Given the description of an element on the screen output the (x, y) to click on. 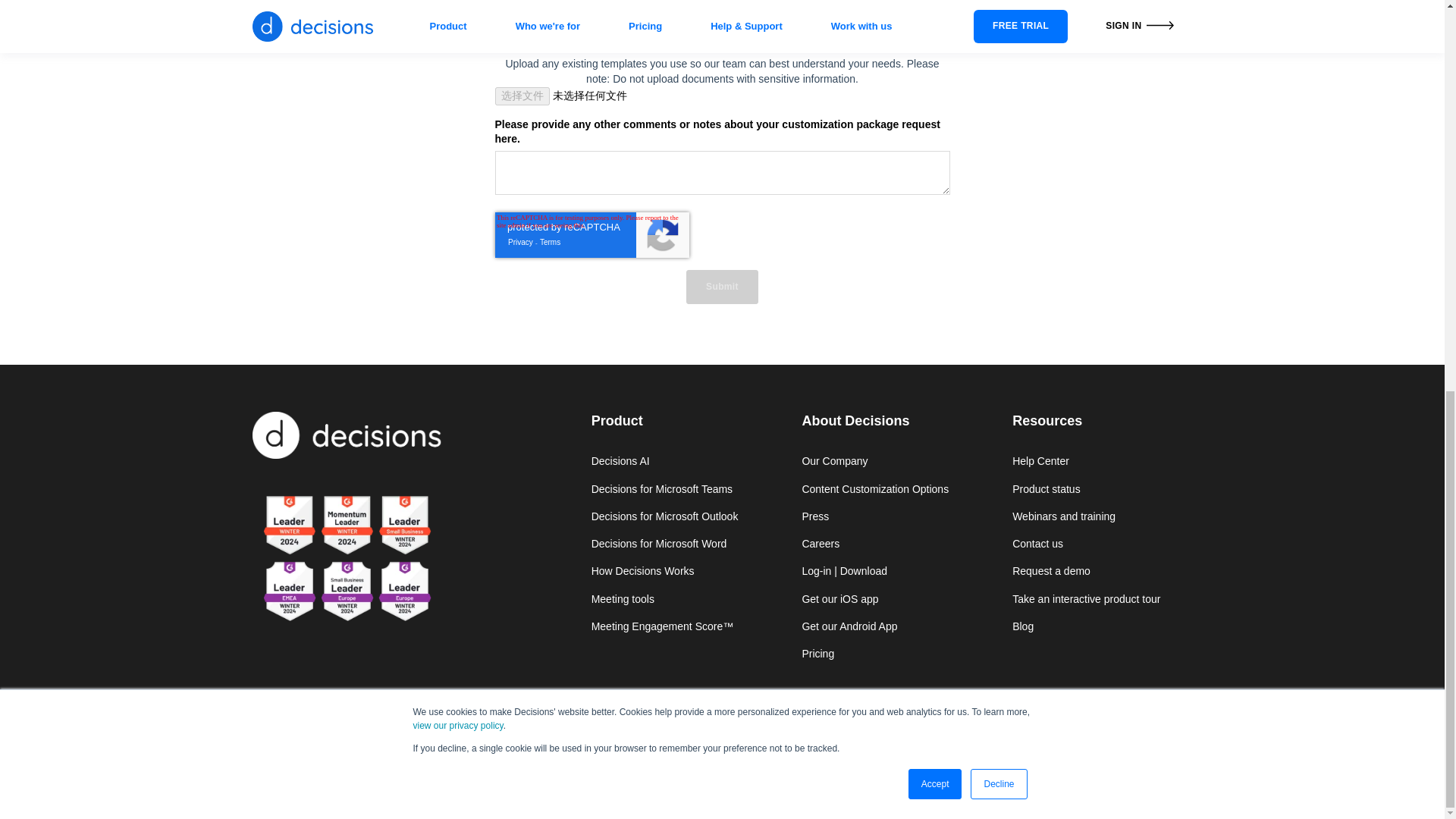
Submit (721, 286)
Accept (935, 37)
Submit (721, 286)
Other (499, 9)
reCAPTCHA (591, 234)
Decline (998, 37)
